Given the description of an element on the screen output the (x, y) to click on. 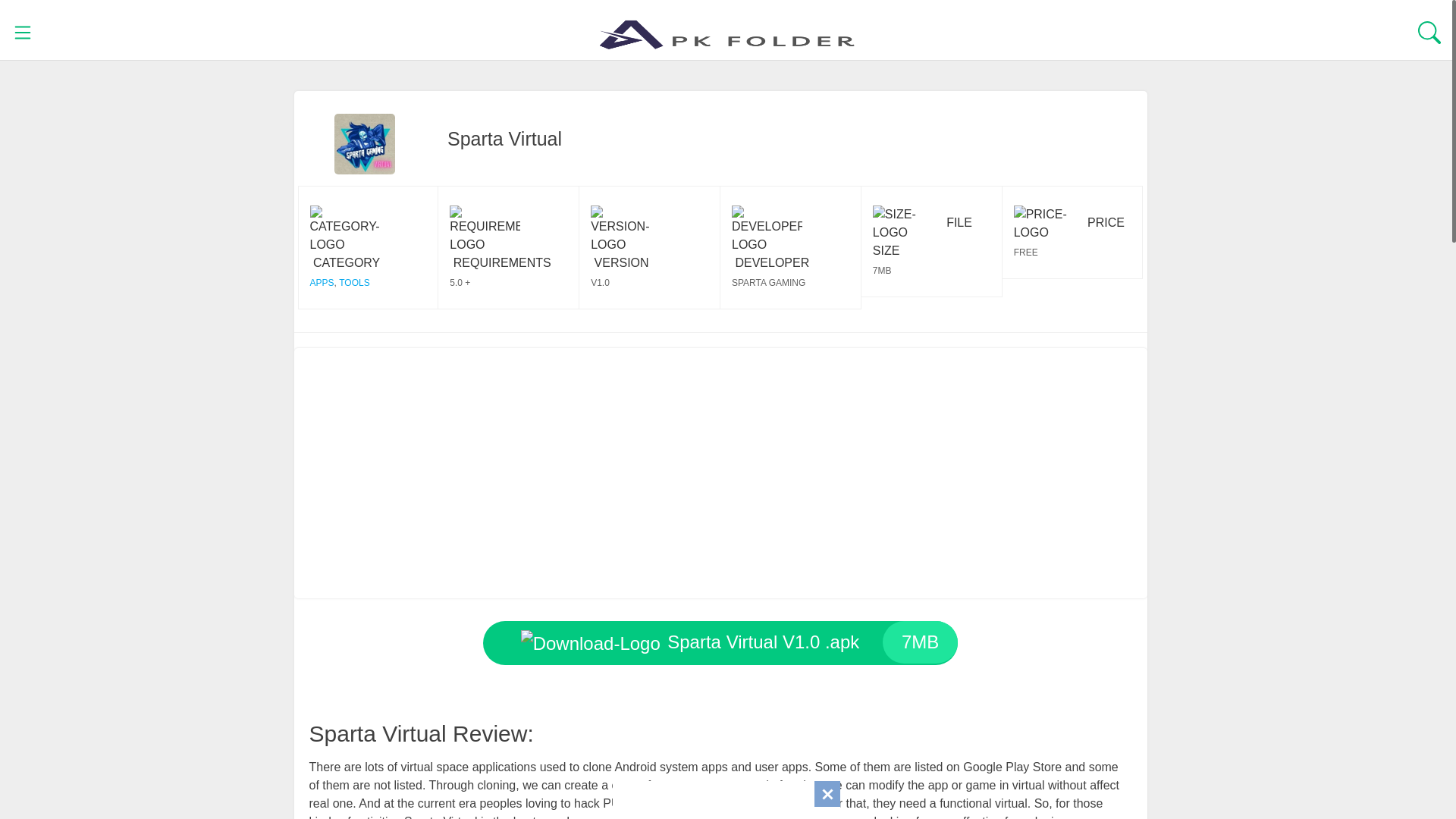
TOOLS (354, 282)
APPS (720, 642)
